Given the description of an element on the screen output the (x, y) to click on. 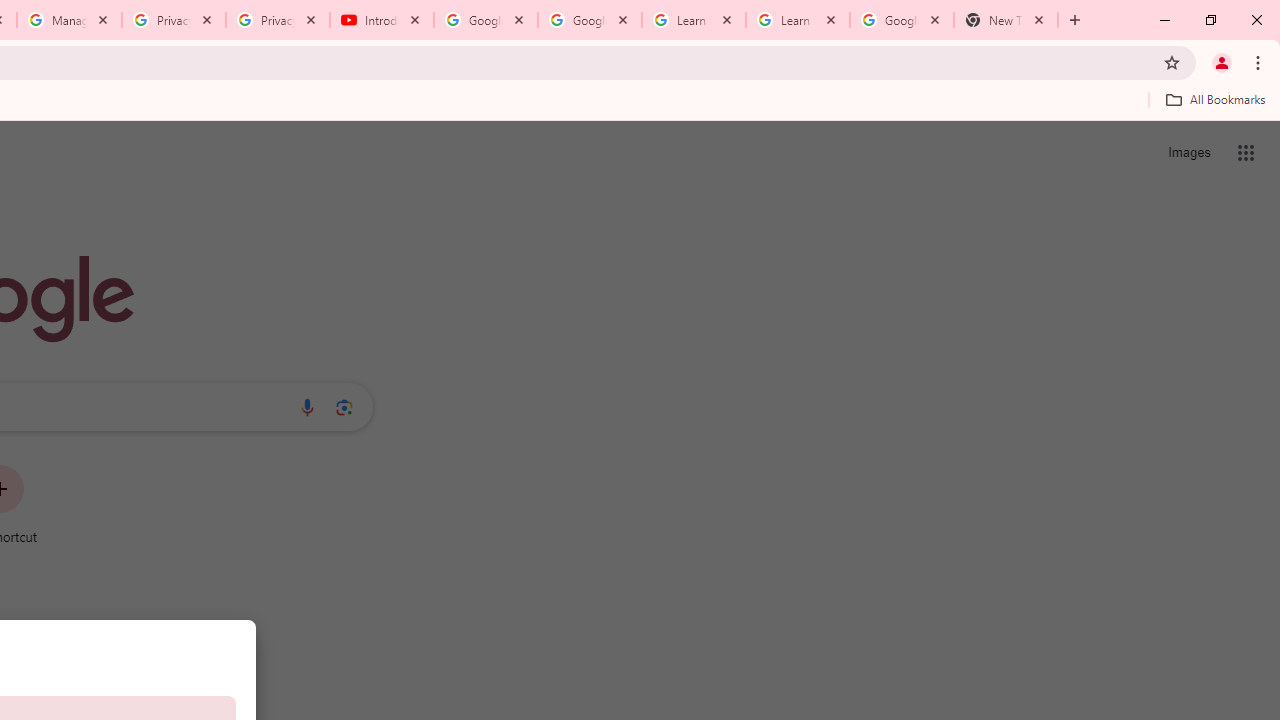
New Tab (1005, 20)
Introduction | Google Privacy Policy - YouTube (381, 20)
